Given the description of an element on the screen output the (x, y) to click on. 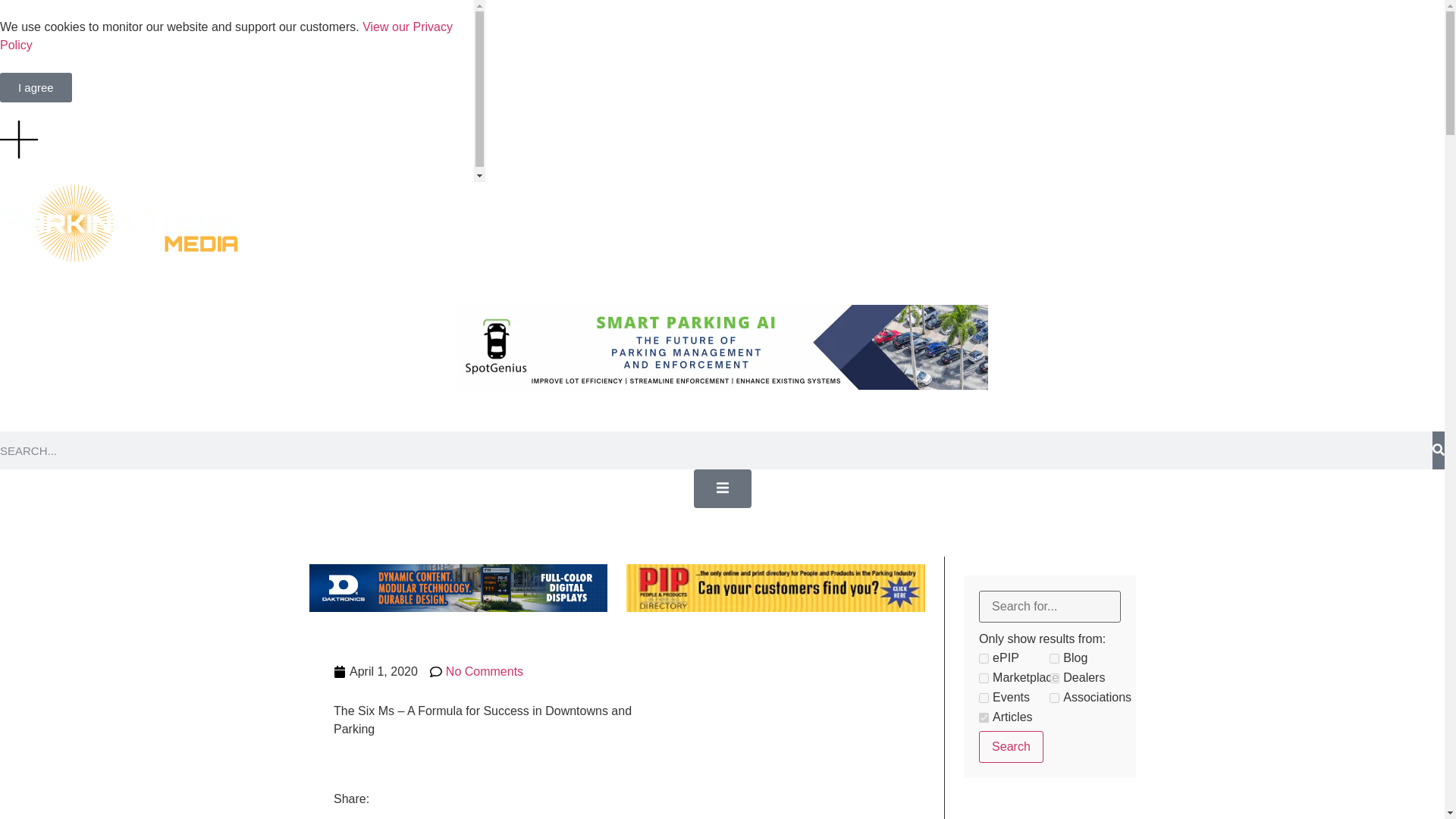
Marketplace (983, 678)
Events (983, 697)
Associations (1054, 697)
No Comments (475, 671)
ePIP (983, 658)
Articles (983, 717)
Search (1010, 746)
Search (1010, 746)
Blog (1054, 658)
